Given the description of an element on the screen output the (x, y) to click on. 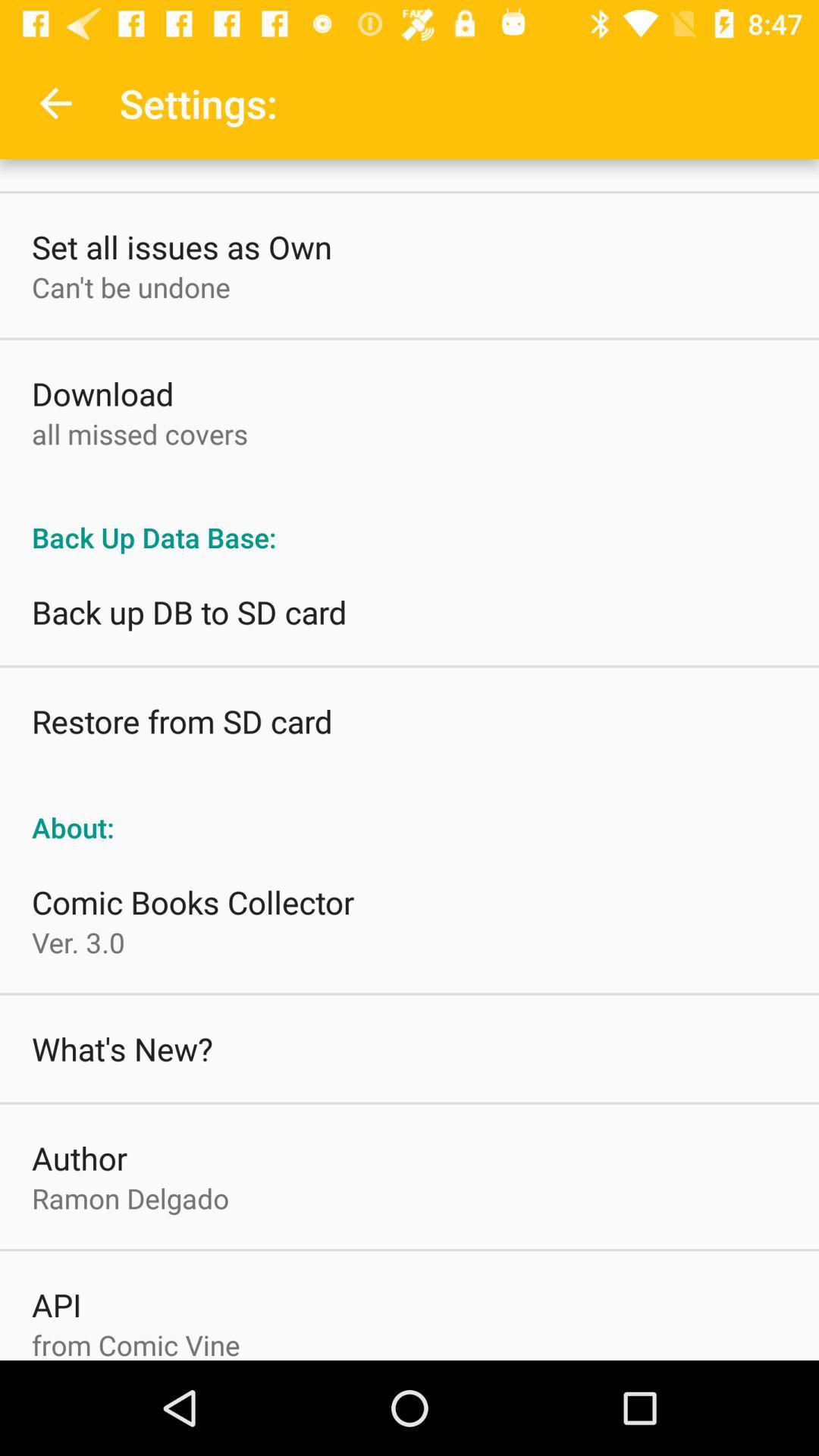
flip until the can t be icon (130, 286)
